Given the description of an element on the screen output the (x, y) to click on. 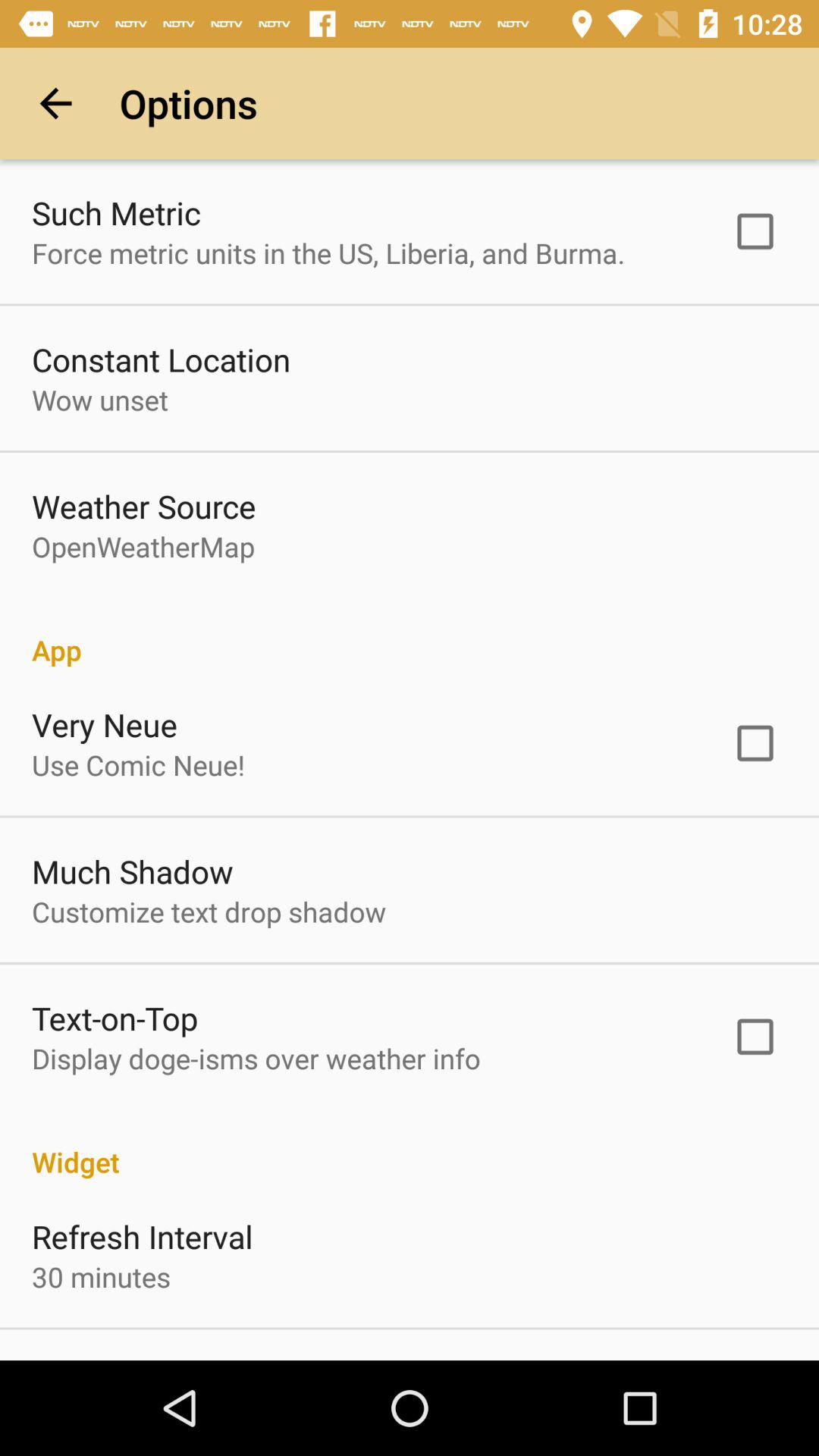
flip until weather source (143, 505)
